Given the description of an element on the screen output the (x, y) to click on. 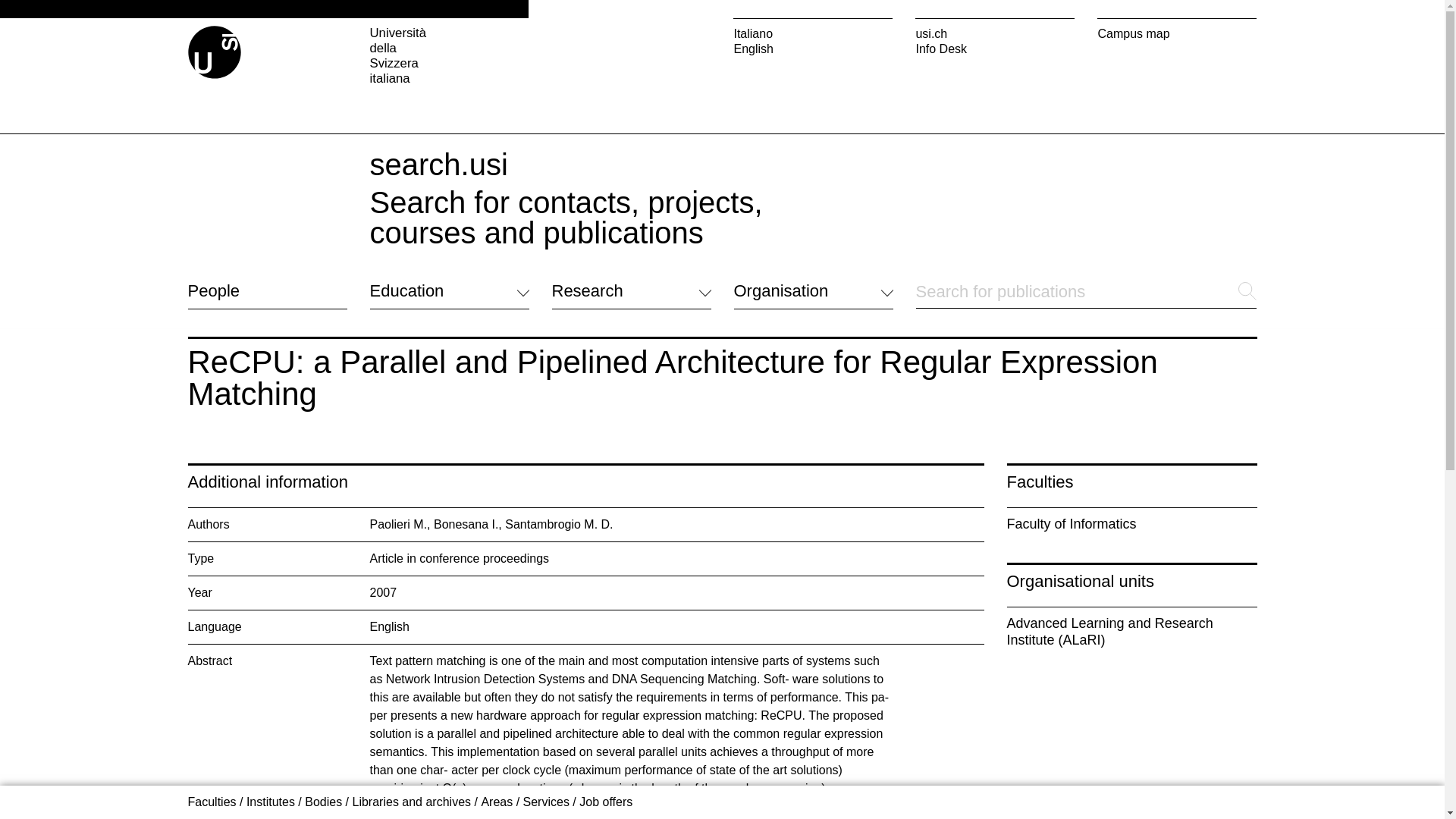
Bellinzona Campus (603, 678)
English (812, 48)
usi.ch (994, 33)
Subscribe (760, 704)
search.usi (438, 164)
Annual Report (771, 686)
Mendrisio Campus (601, 660)
Newsletter (761, 667)
Lugano Campus (595, 642)
Disclaimer (579, 760)
